Given the description of an element on the screen output the (x, y) to click on. 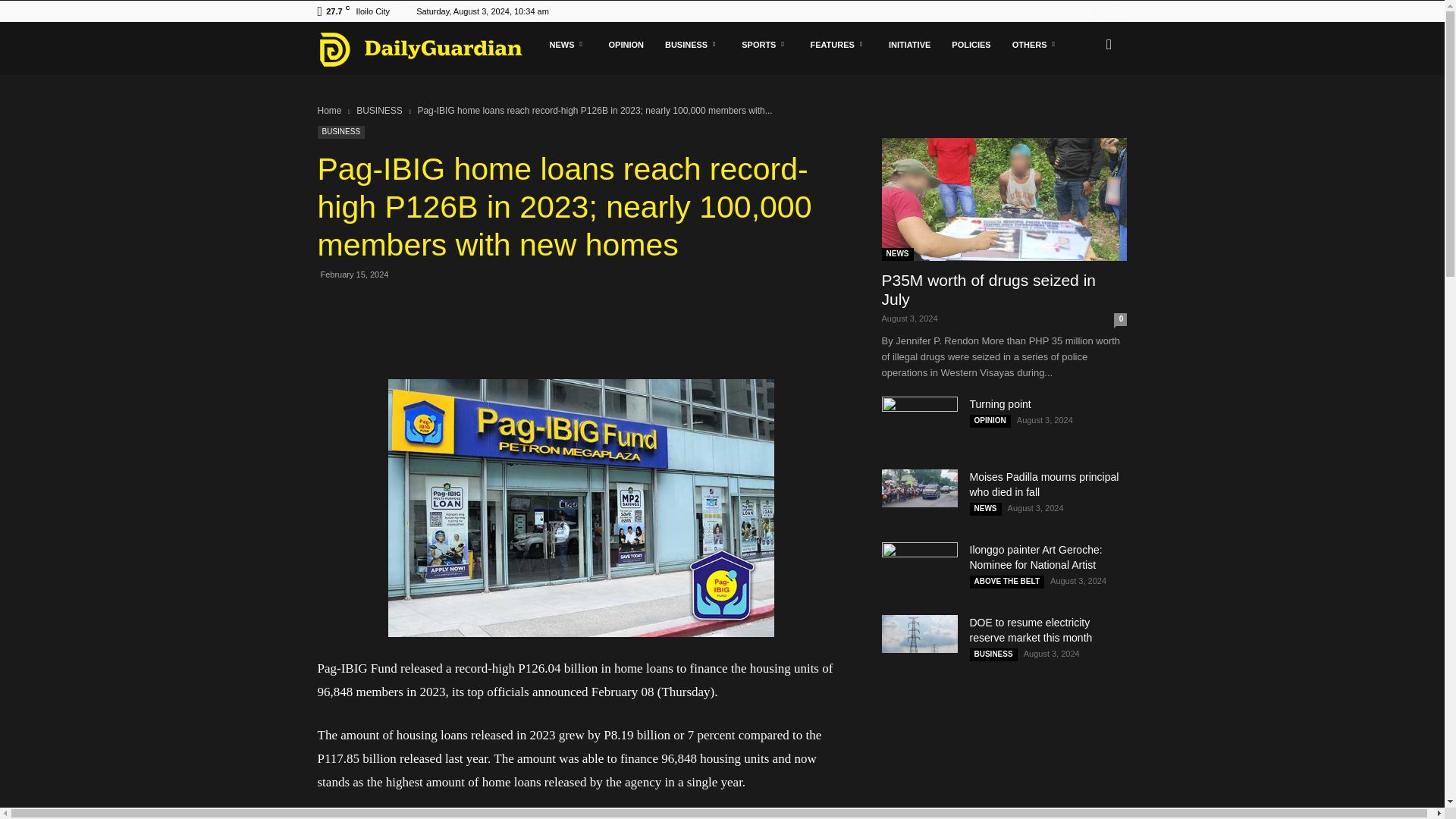
We write, you decide. (419, 48)
Twitter (1114, 11)
Daily Guardian (427, 48)
NEWS (567, 44)
Facebook (1090, 11)
